Given the description of an element on the screen output the (x, y) to click on. 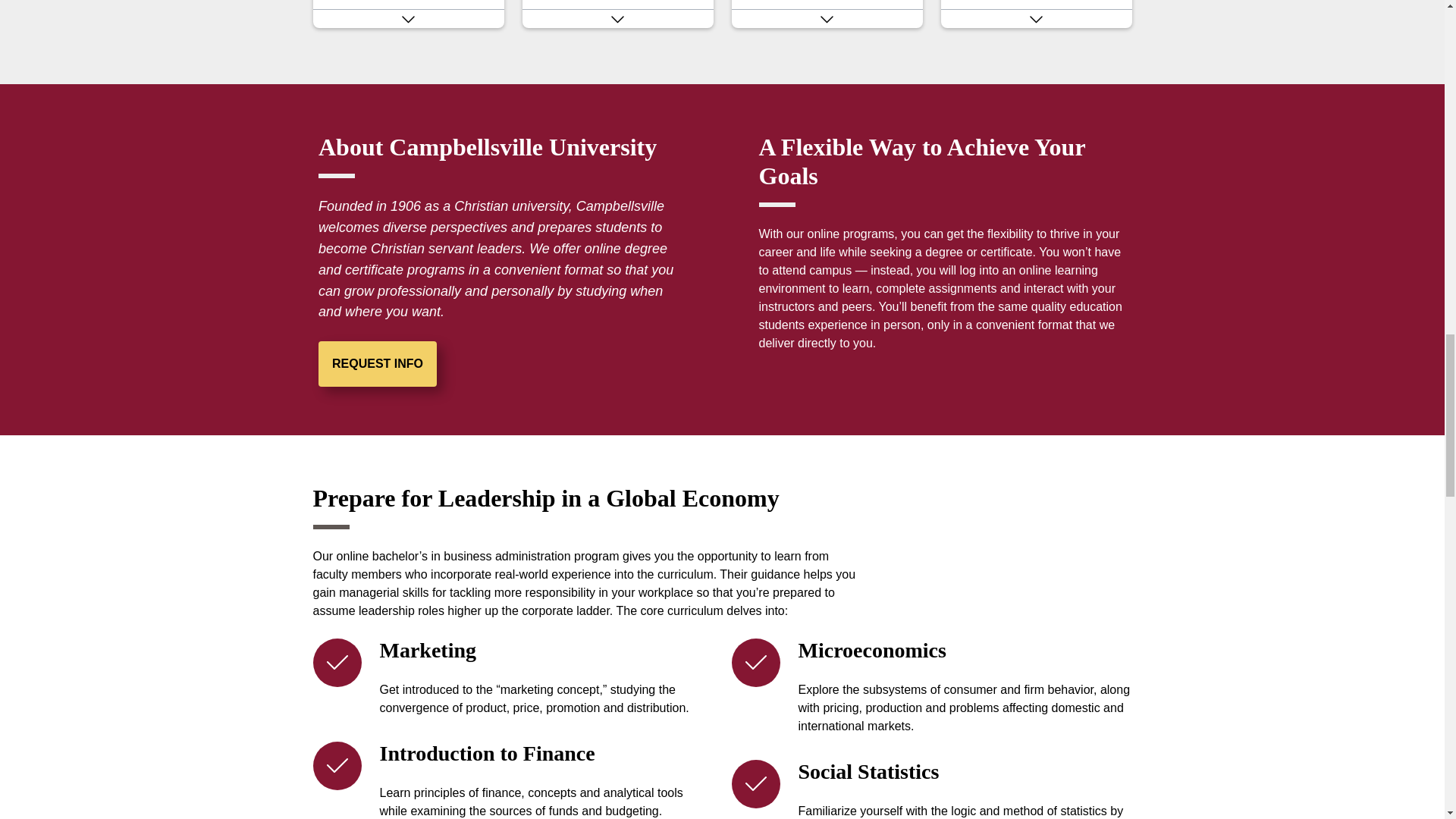
Marketing (825, 4)
Human Resource Management (408, 4)
Supply Chain Management (1035, 4)
Management (617, 4)
REQUEST INFO (377, 363)
